Given the description of an element on the screen output the (x, y) to click on. 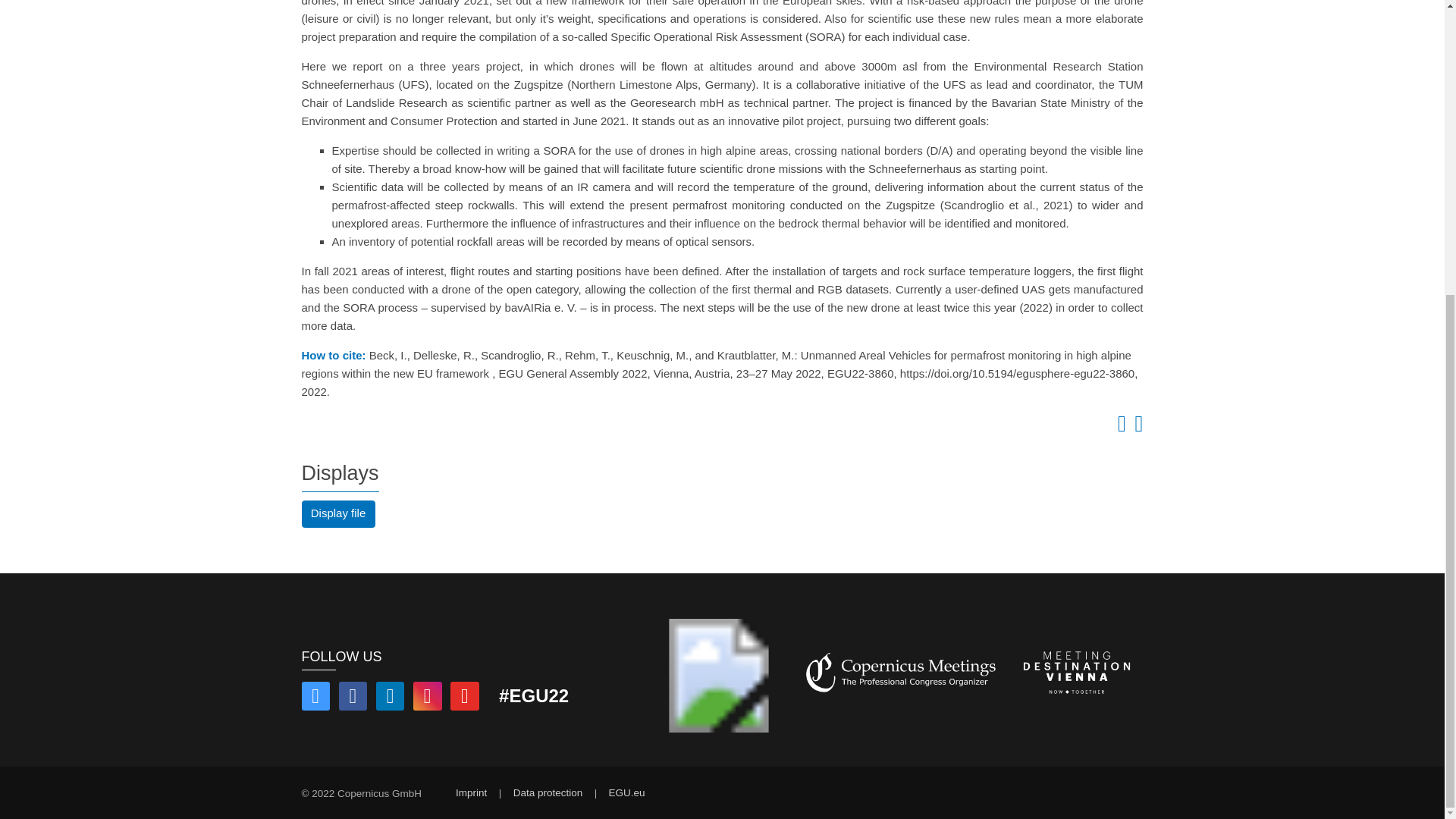
Find us on LinkedIn (389, 698)
Find us on YouTube (464, 698)
Find us on Instagram (427, 698)
Follow us on Twitter (315, 698)
Follow us on Facebook (353, 698)
Open QR code linking to abstract URL (1135, 427)
Copy to clipboard (1118, 427)
